Given the description of an element on the screen output the (x, y) to click on. 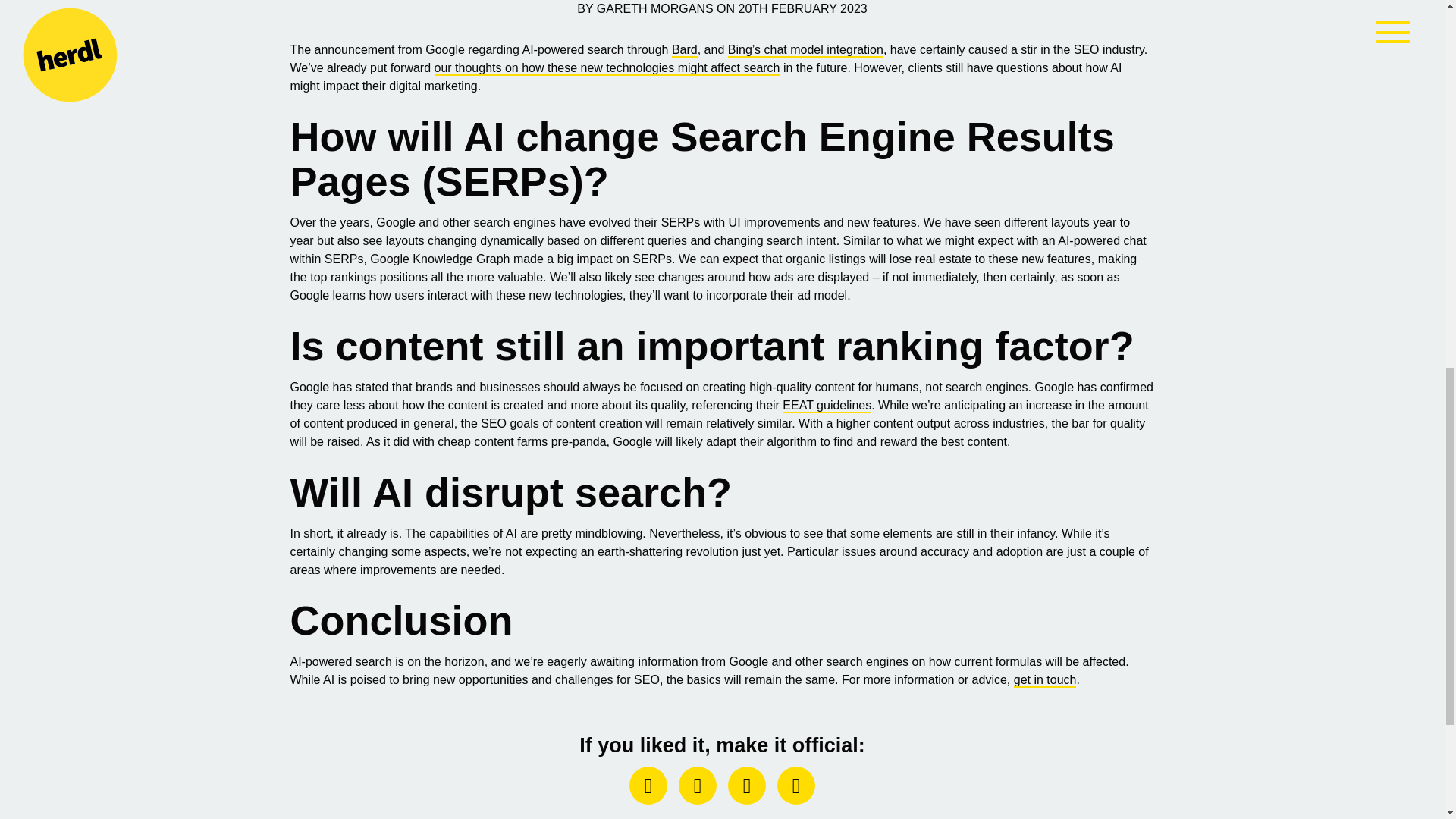
get in touch (1045, 680)
Bard (684, 50)
EEAT guidelines (826, 405)
